Given the description of an element on the screen output the (x, y) to click on. 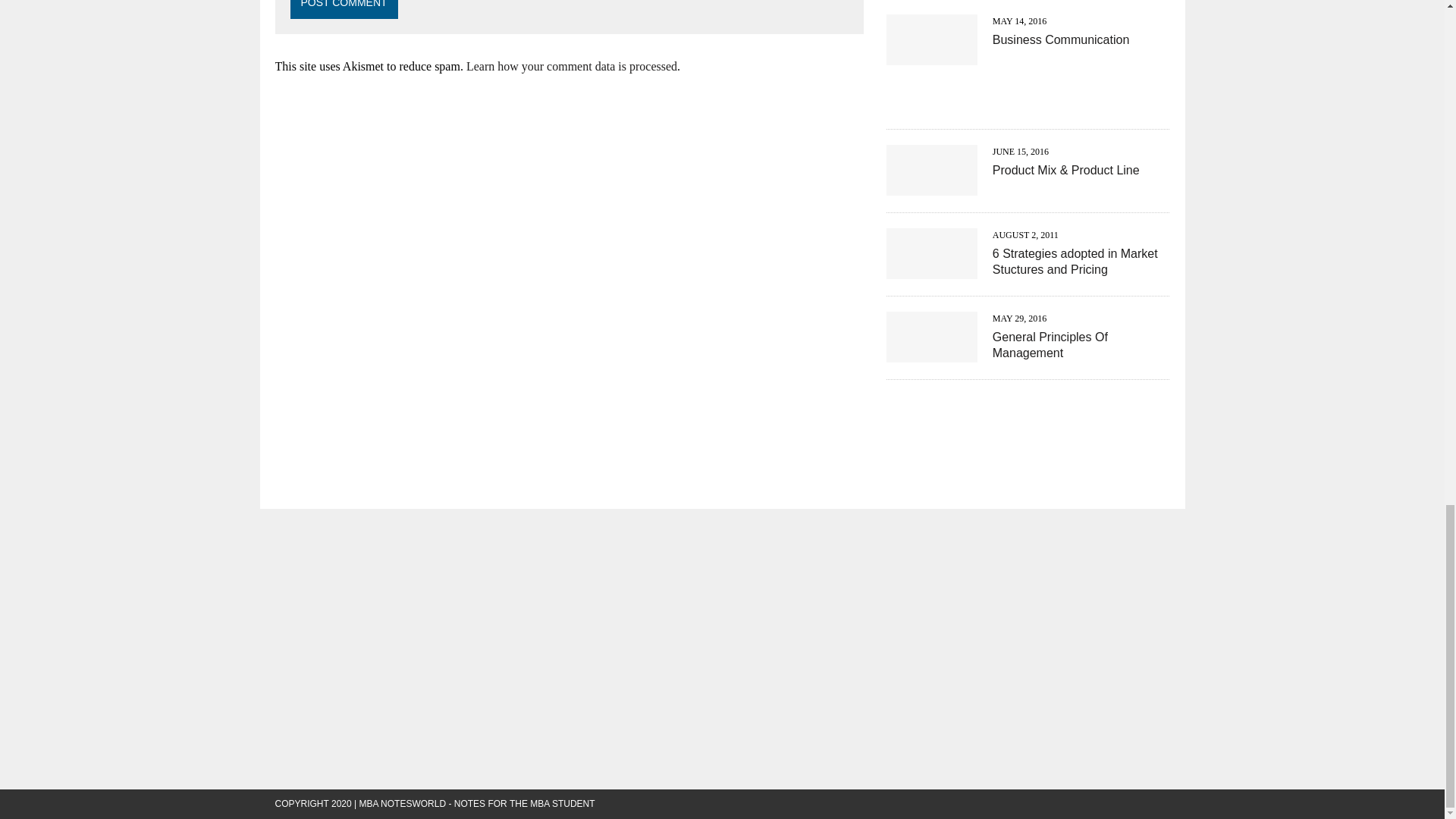
Post Comment (343, 9)
Post Comment (343, 9)
Learn how your comment data is processed (571, 65)
